Given the description of an element on the screen output the (x, y) to click on. 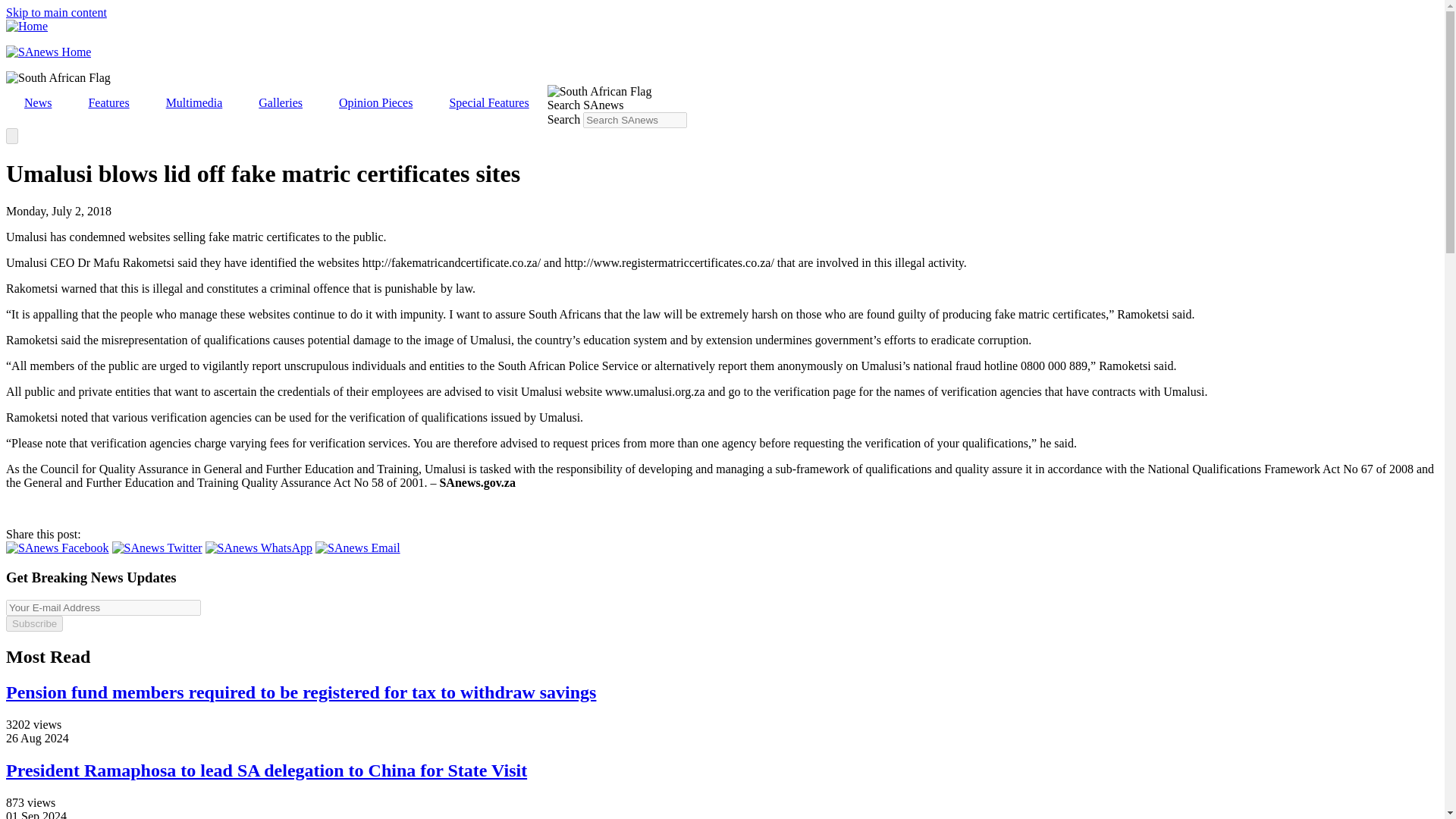
Share on Facebook (57, 547)
Subscribe (33, 623)
Special Features (488, 103)
Share by Email (357, 547)
Features (108, 103)
Multimedia (194, 103)
Skip to main content (55, 11)
Opinion Pieces (375, 103)
